Given the description of an element on the screen output the (x, y) to click on. 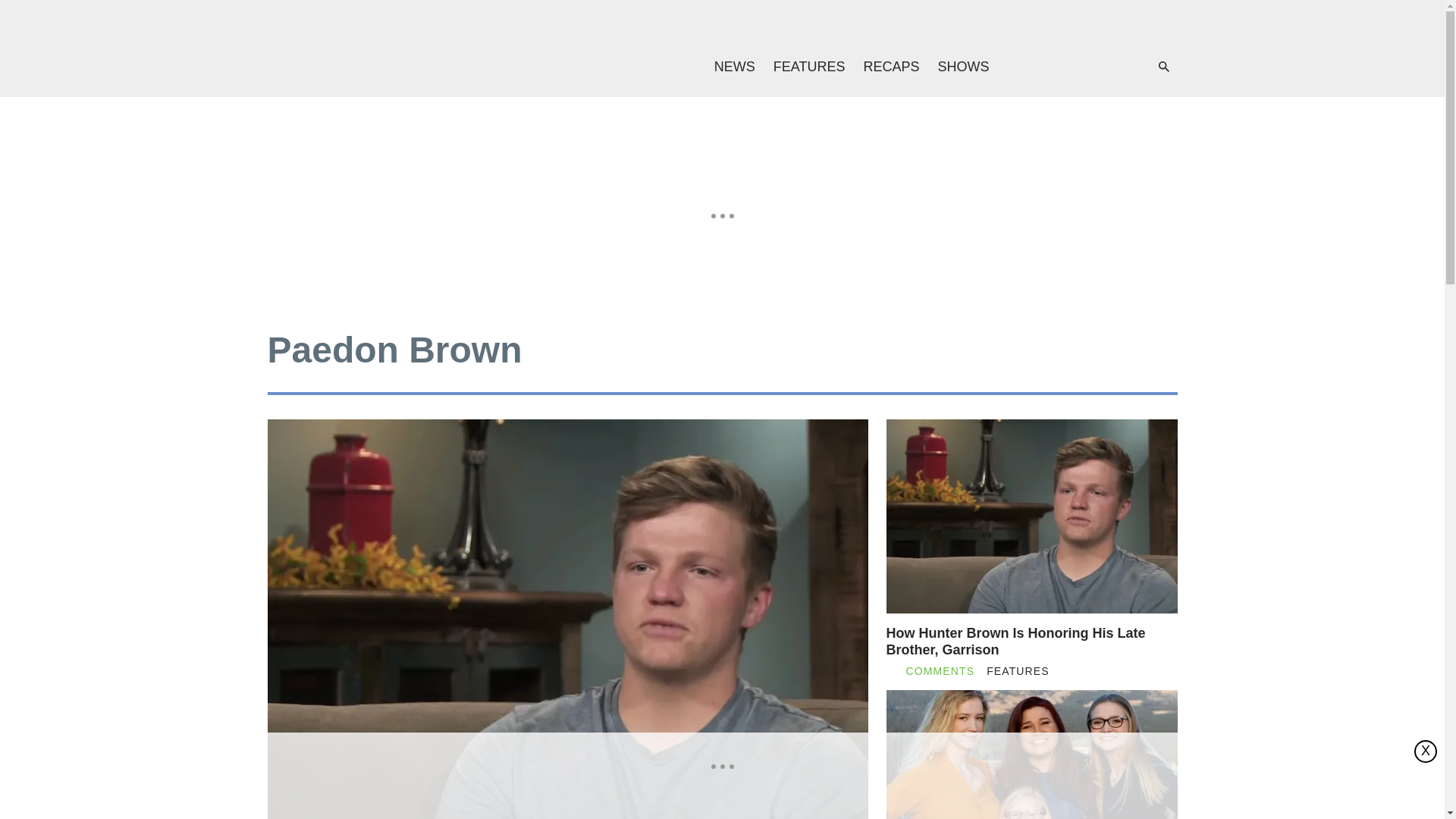
FEATURES (809, 66)
RECAPS (890, 66)
NEWS (734, 66)
How Hunter Brown Is Honoring His Late Brother, Garrison (1030, 641)
SHOWS (962, 66)
FEATURES (1018, 671)
Twitter (1079, 66)
Facebook (1048, 66)
How Hunter Brown Is Honoring His Late Brother, Garrison (1030, 641)
Pinterest (1109, 66)
